Given the description of an element on the screen output the (x, y) to click on. 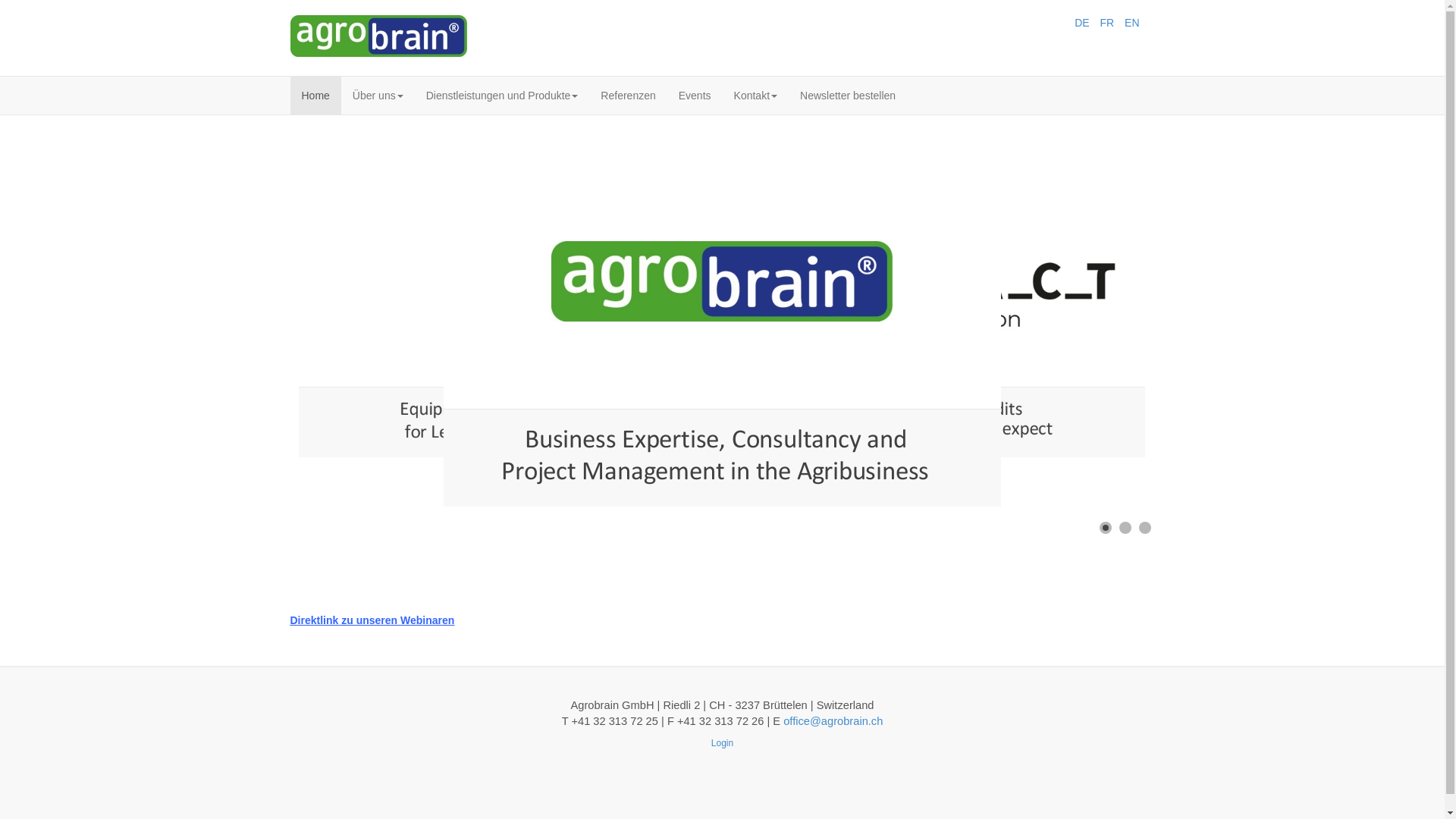
Direktlink zu unseren Webinaren Element type: text (371, 620)
Login Element type: text (722, 742)
DE Element type: text (1083, 22)
Newsletter bestellen Element type: text (847, 95)
Referenzen Element type: text (627, 95)
office@agrobrain.ch Element type: text (832, 721)
FR Element type: text (1108, 22)
Dienstleistungen und Produkte Element type: text (501, 95)
Home Element type: text (314, 95)
Kontakt Element type: text (755, 95)
Events Element type: text (694, 95)
EN Element type: text (1131, 22)
Agrobrain GmbH Element type: hover (377, 35)
